Given the description of an element on the screen output the (x, y) to click on. 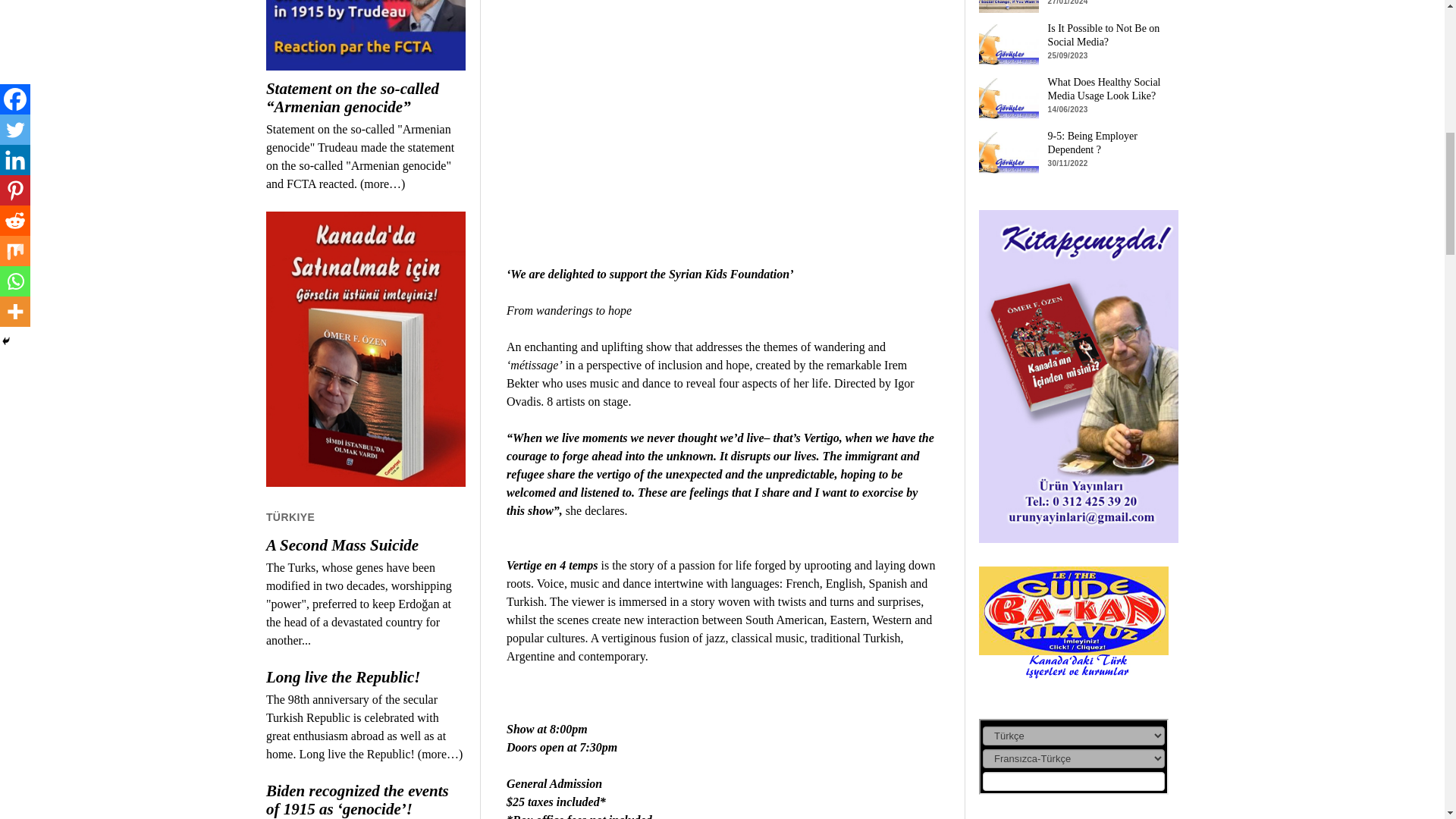
Advertisement (721, 96)
A Second Mass Suicide (365, 545)
Long live the Republic! (365, 677)
